Given the description of an element on the screen output the (x, y) to click on. 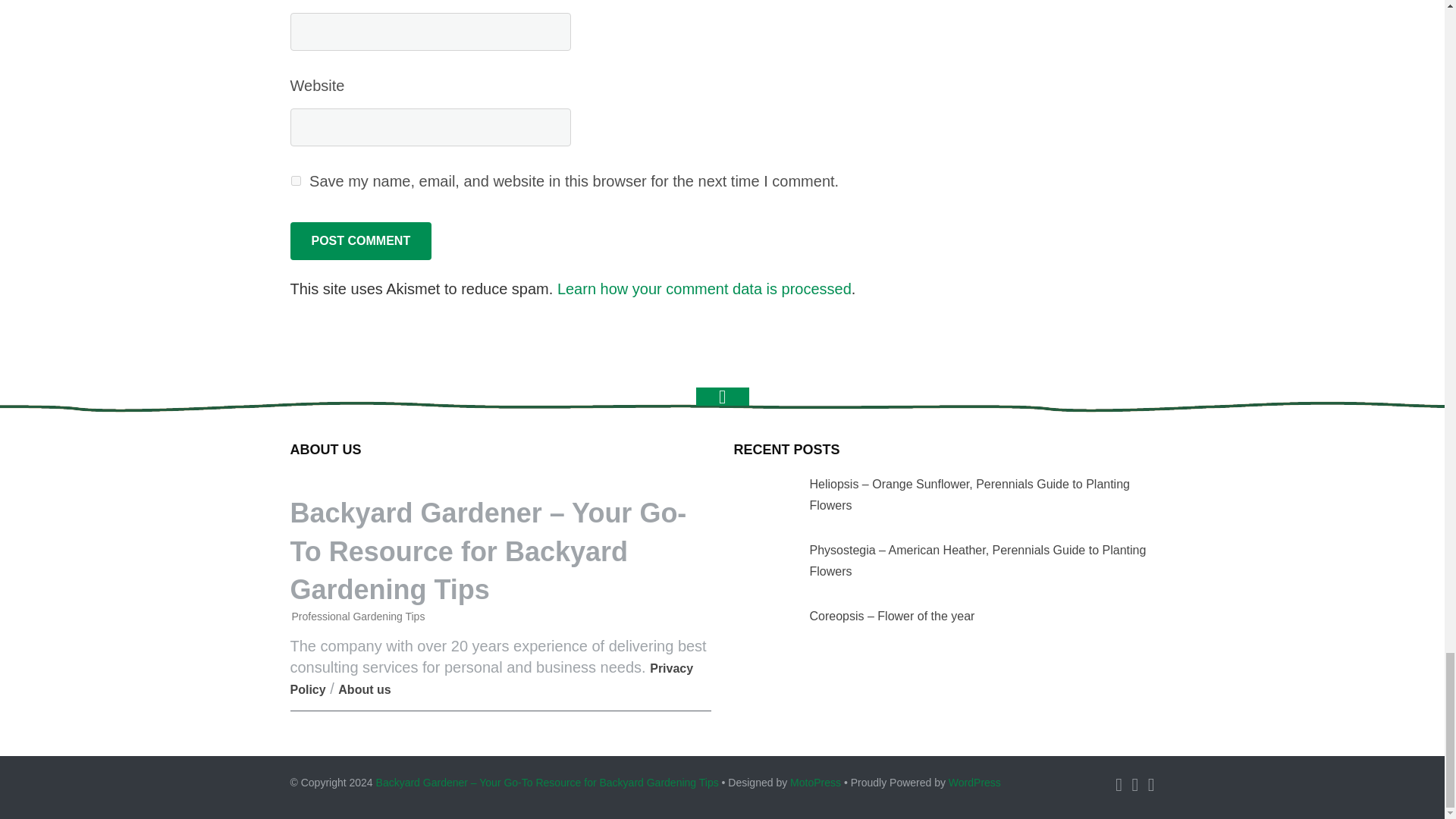
Post Comment (359, 240)
yes (296, 180)
Premium WordPress Plugins and Themes (815, 782)
